Given the description of an element on the screen output the (x, y) to click on. 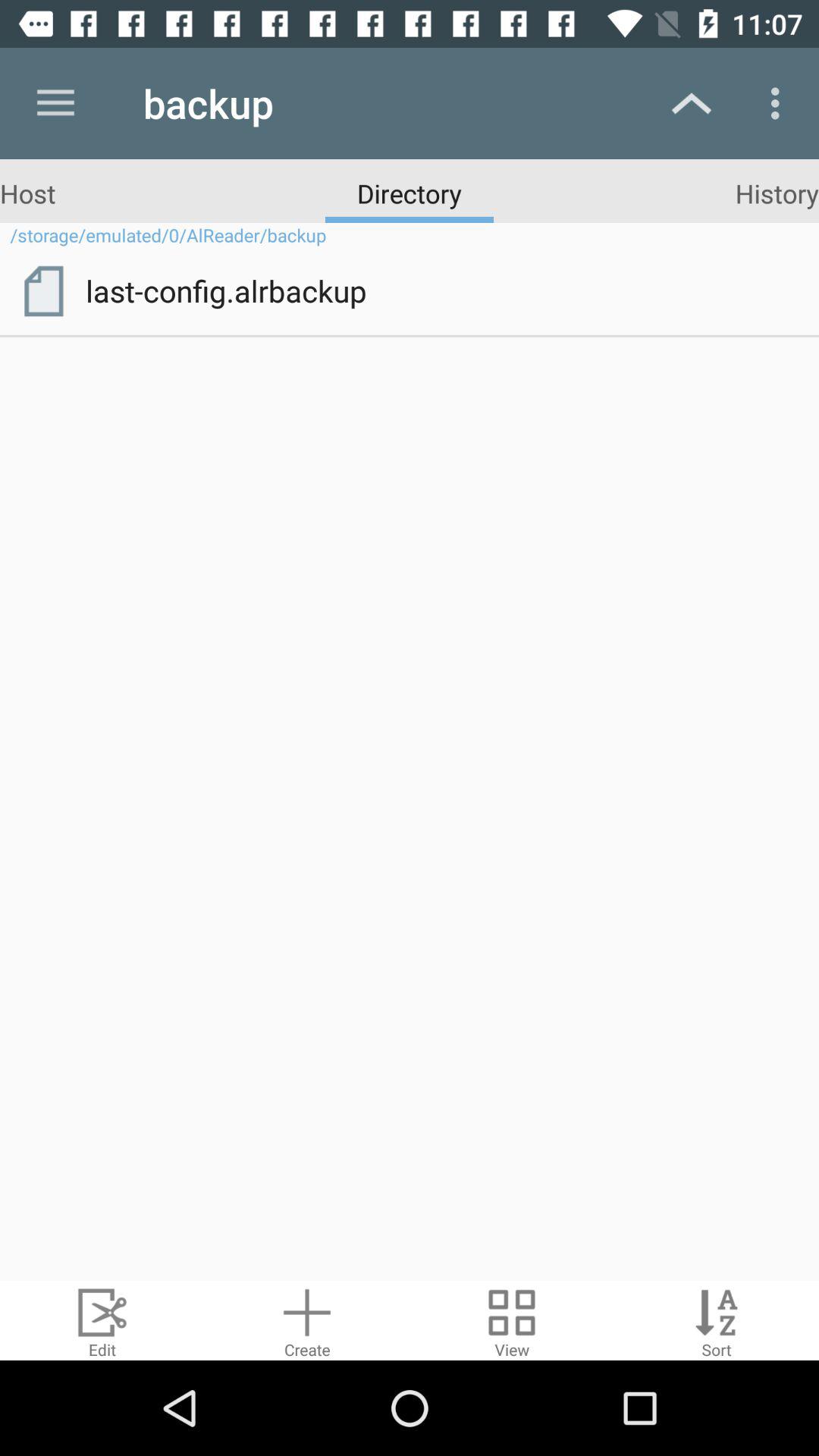
select item to the left of backup (55, 103)
